Given the description of an element on the screen output the (x, y) to click on. 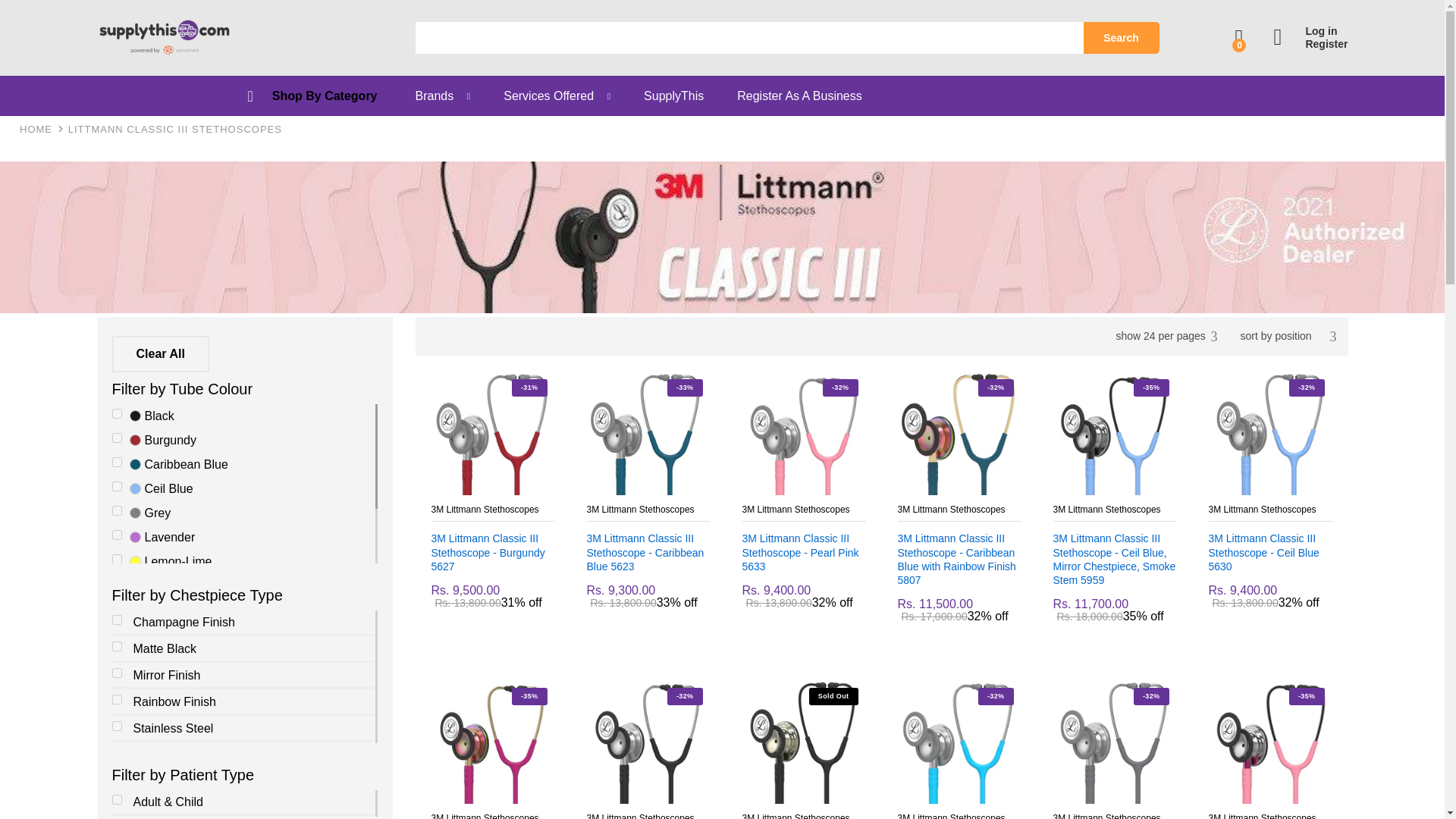
Search (1120, 38)
search (748, 38)
Log in (1310, 31)
Register (1310, 43)
Supply This (36, 129)
Shop By Category (324, 95)
